Given the description of an element on the screen output the (x, y) to click on. 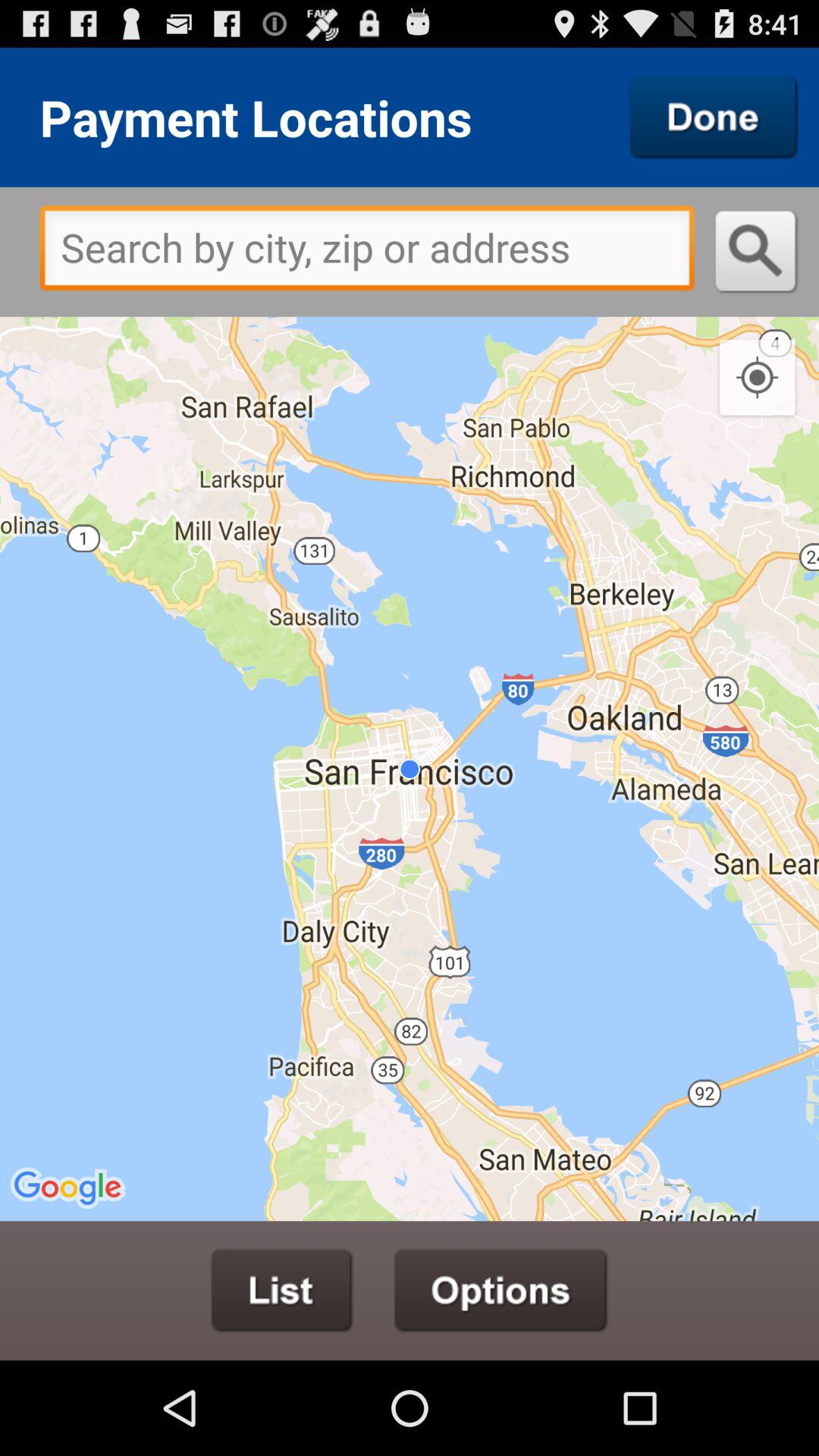
search address (756, 251)
